Given the description of an element on the screen output the (x, y) to click on. 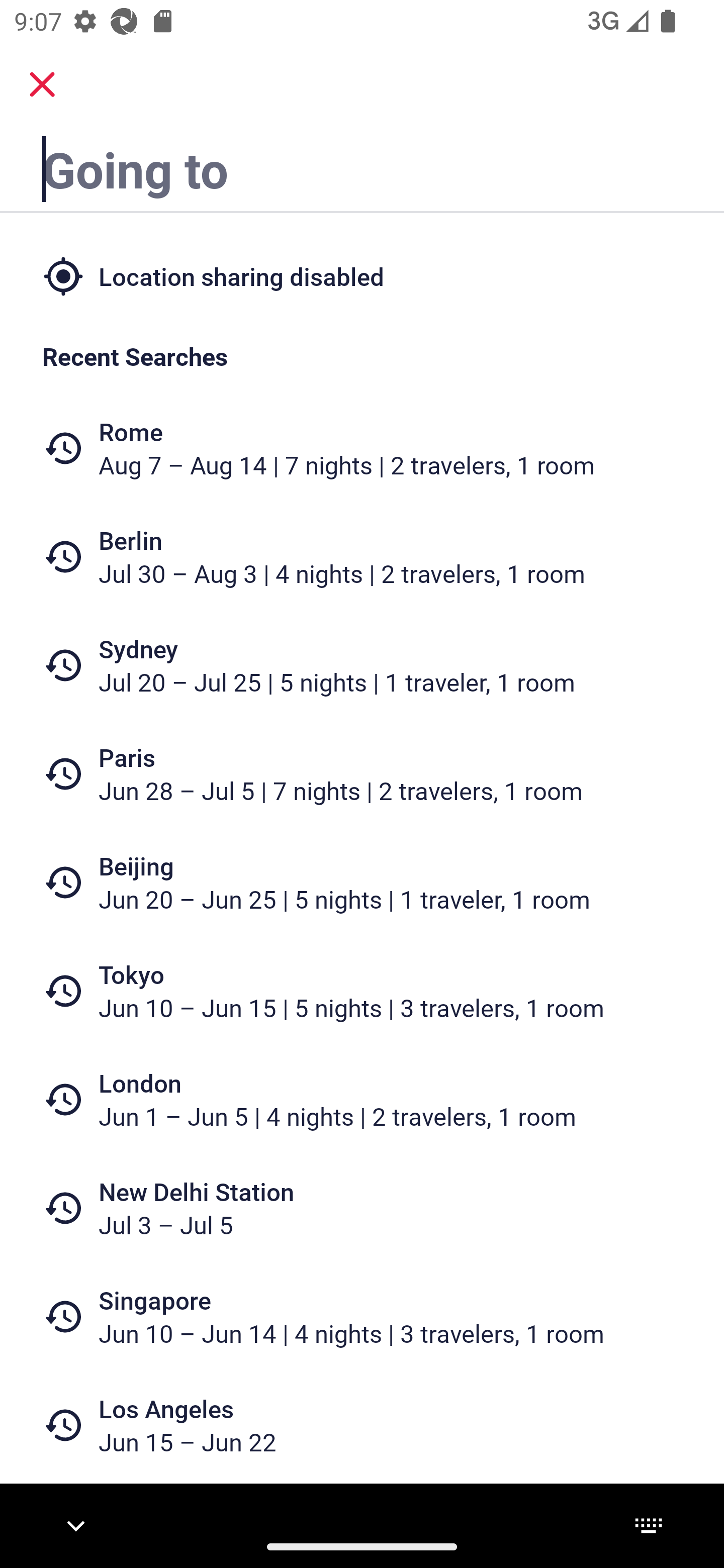
close. (42, 84)
Location sharing disabled (362, 275)
New Delhi Station Jul 3 – Jul 5 (362, 1208)
Los Angeles Jun 15 – Jun 22 (362, 1425)
